Given the description of an element on the screen output the (x, y) to click on. 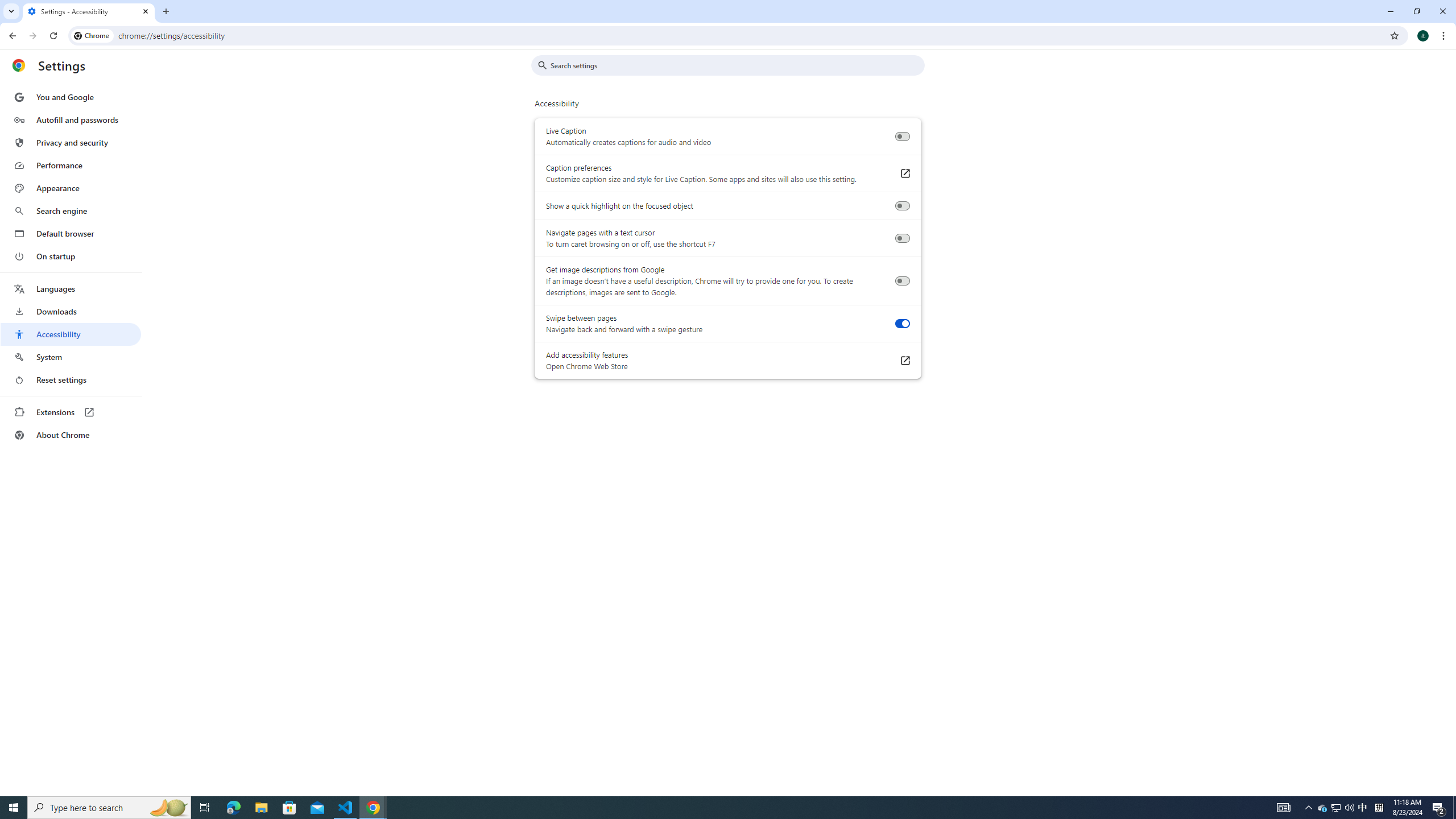
Default browser (70, 233)
Downloads (70, 311)
You and Google (70, 96)
Privacy and security (70, 142)
About Chrome (70, 434)
